Given the description of an element on the screen output the (x, y) to click on. 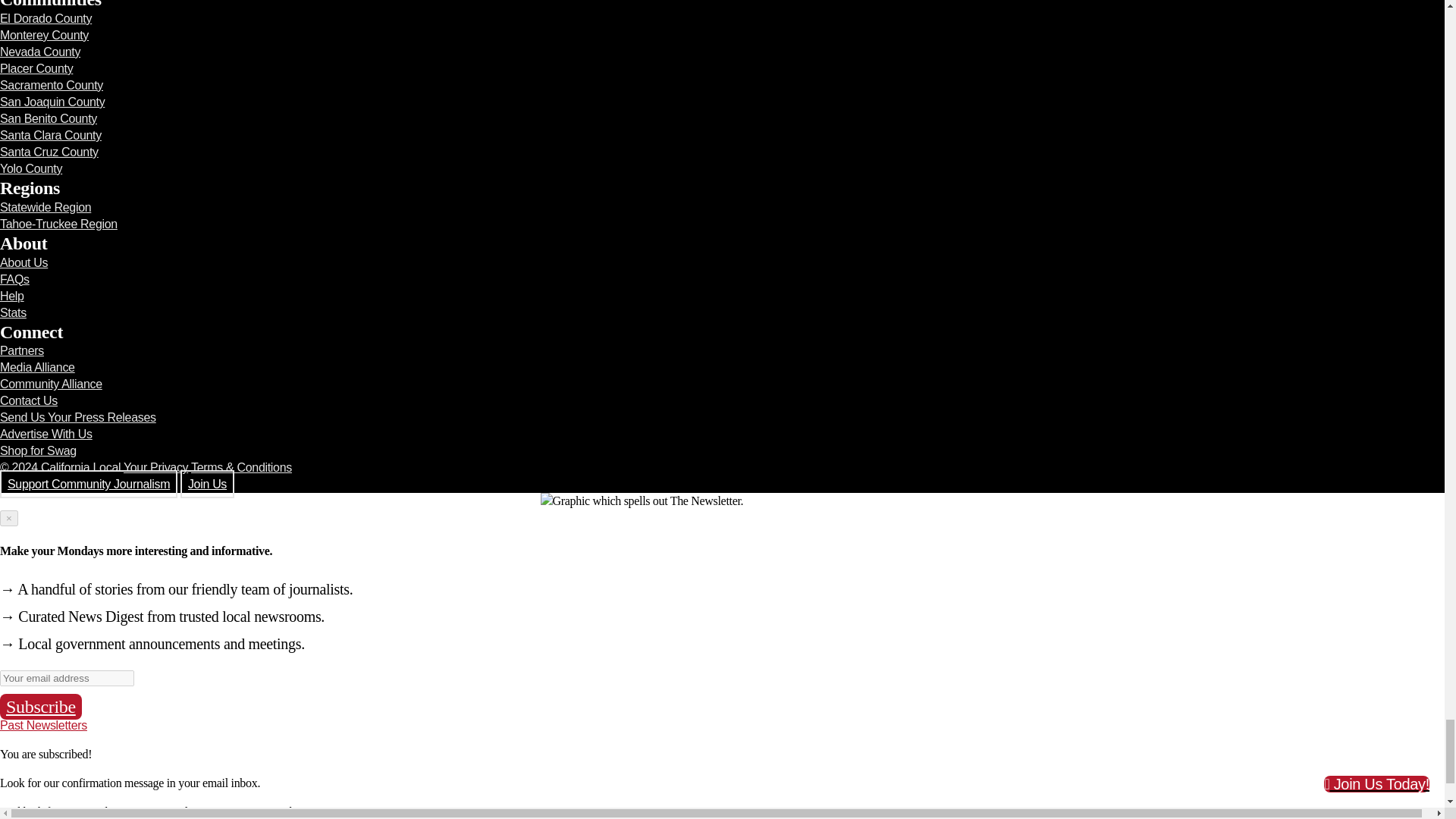
The Newsletter (722, 501)
